Given the description of an element on the screen output the (x, y) to click on. 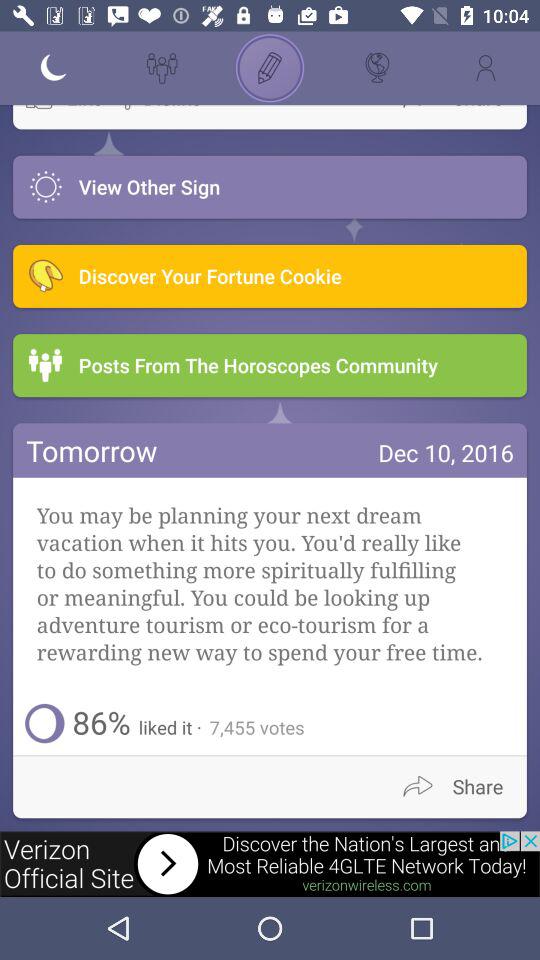
write (269, 68)
